Given the description of an element on the screen output the (x, y) to click on. 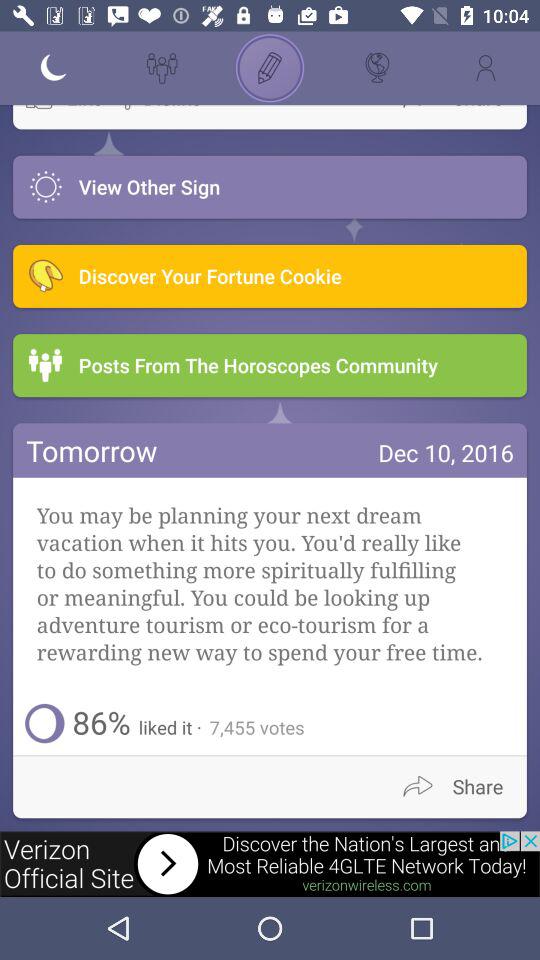
write (269, 68)
